Given the description of an element on the screen output the (x, y) to click on. 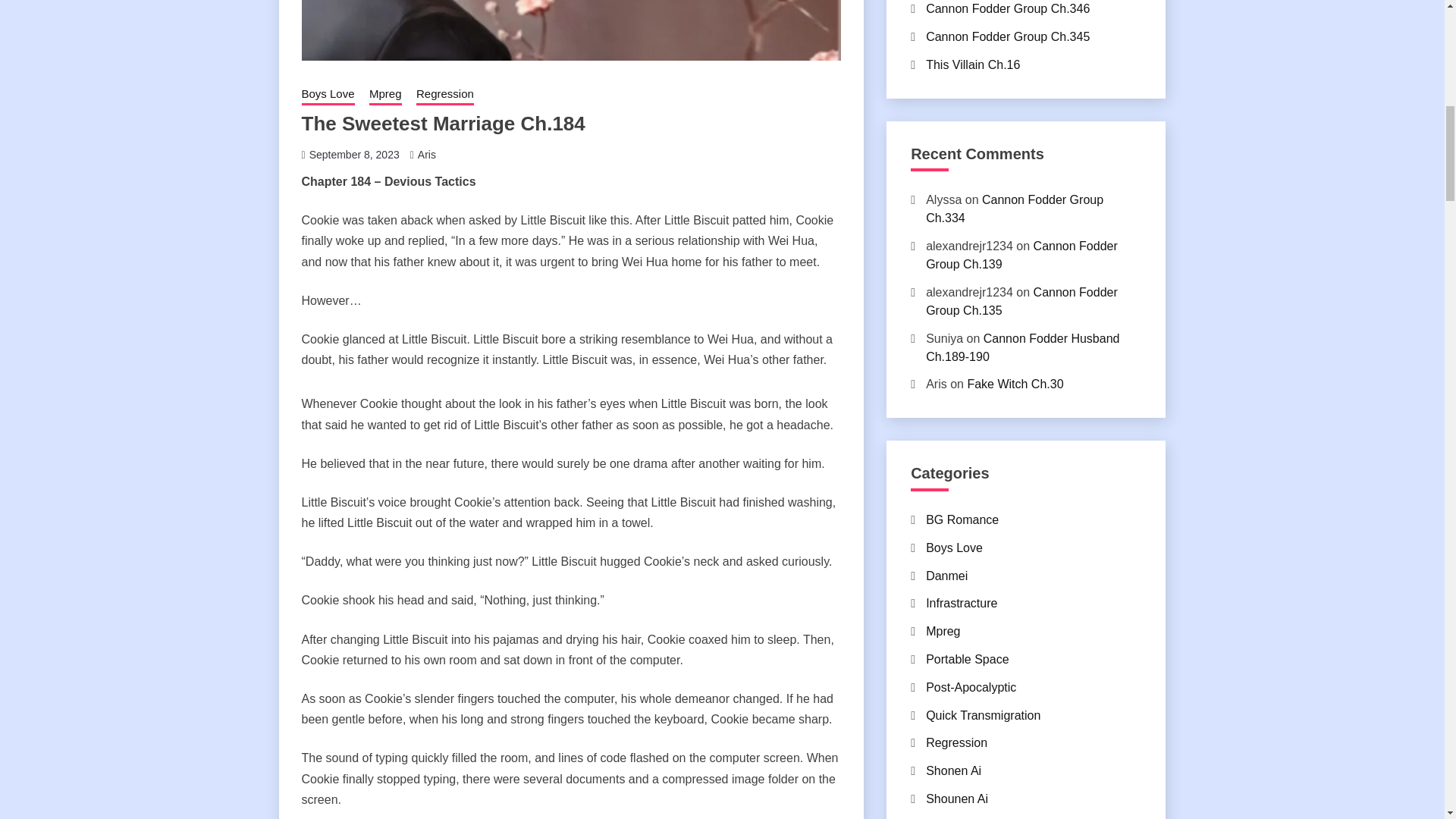
September 8, 2023 (353, 154)
Aris (426, 154)
Mpreg (385, 95)
Regression (445, 95)
Boys Love (328, 95)
